Given the description of an element on the screen output the (x, y) to click on. 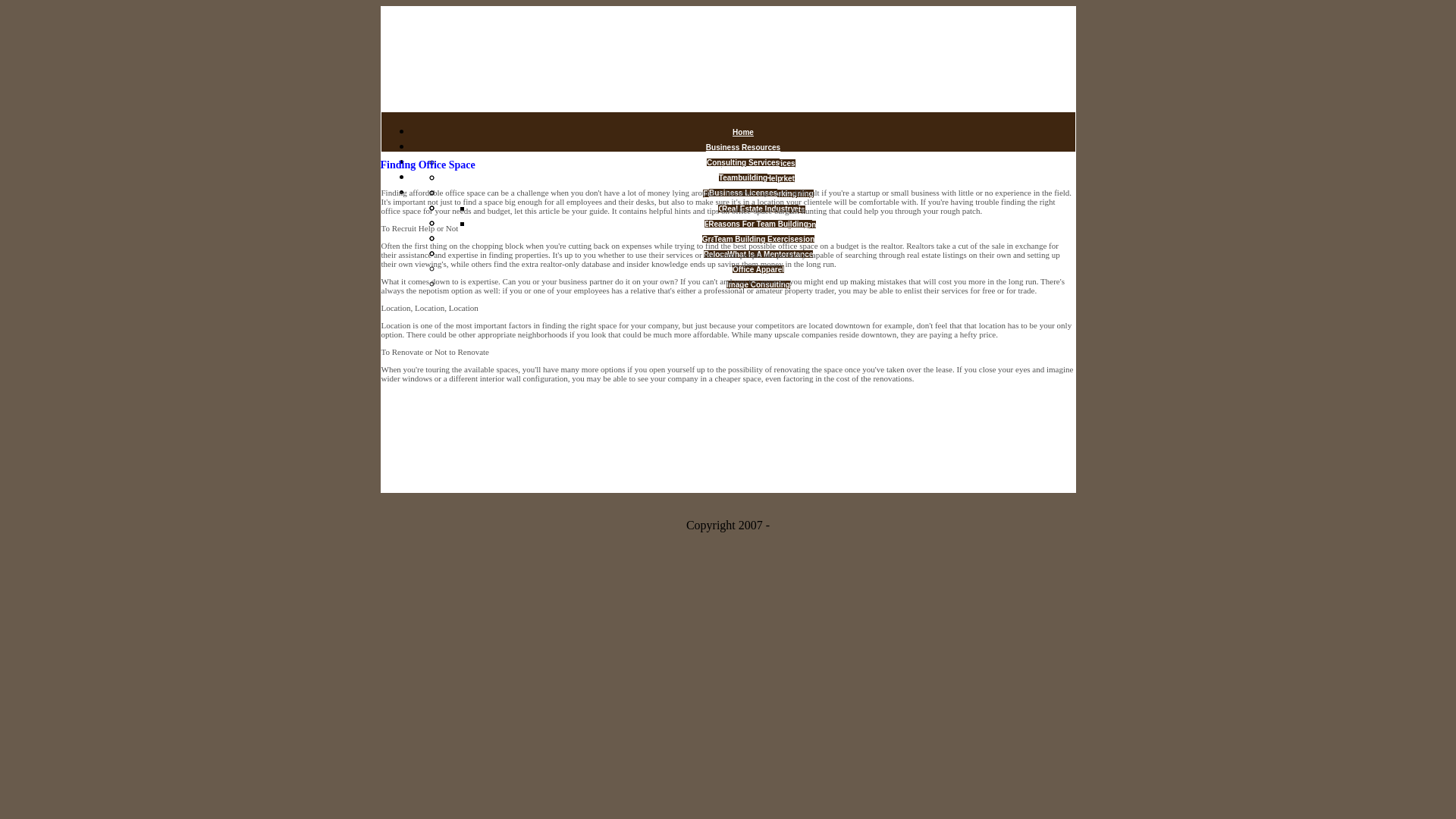
Consulting Services (742, 162)
Website Help (759, 178)
Finding Office Space (757, 193)
Relocation Service Assistance (758, 254)
Your Investments (773, 209)
Business Licenses (743, 193)
What Is A Mentor (758, 254)
Grabbing Consumers Attention (758, 239)
Commercial Mortgage (757, 208)
Team Building Exercises (758, 239)
Office Apparel (758, 269)
Real Estate Industry (758, 208)
Business Networking (757, 193)
Image Consulting (758, 284)
Reasons For Team Building (757, 224)
